Given the description of an element on the screen output the (x, y) to click on. 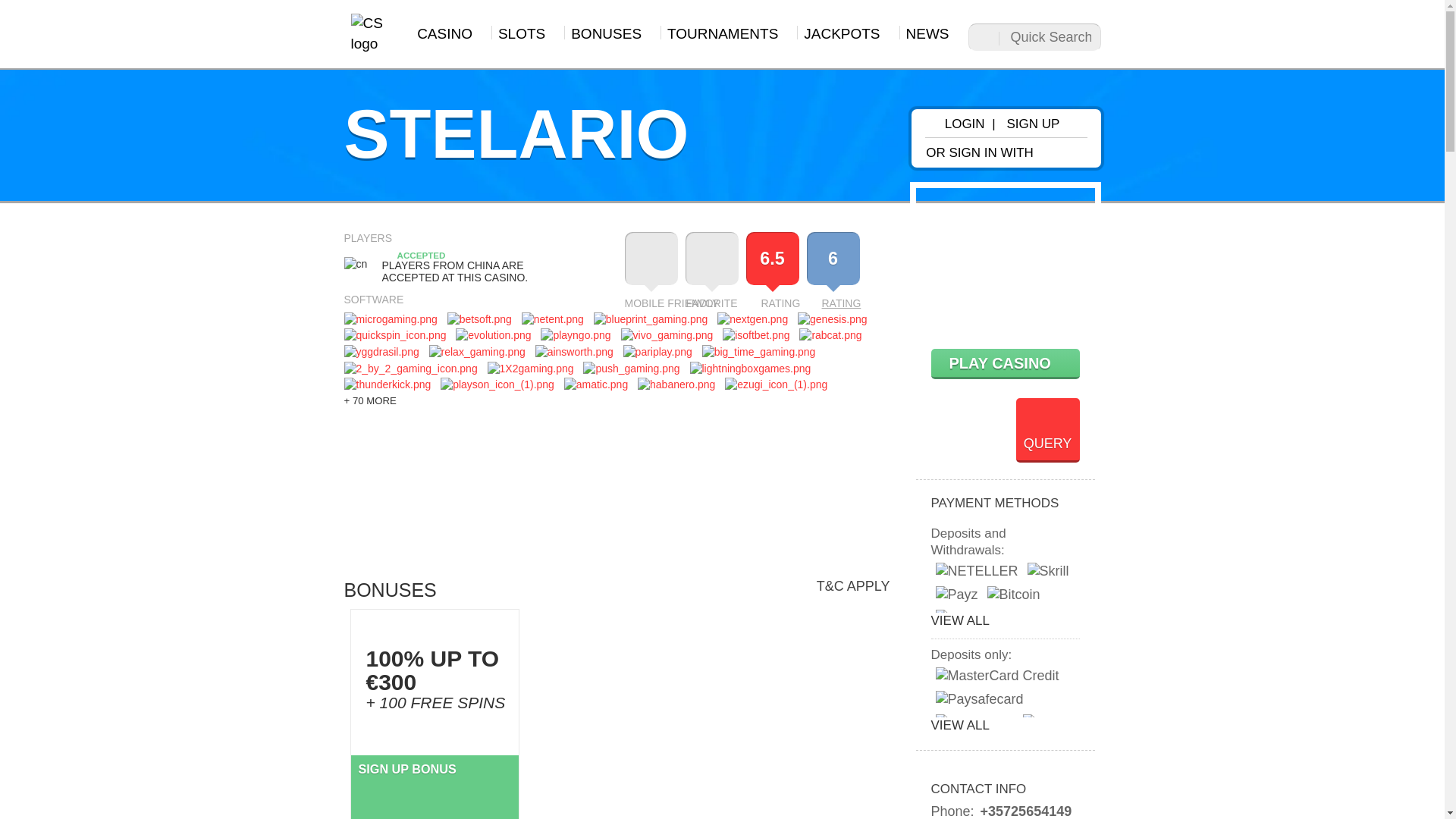
iSoftBet (755, 335)
China (356, 266)
Net Entertainment (833, 303)
Yggdrasil (552, 319)
Microgaming (381, 351)
Relax Gaming (390, 319)
Blueprint Gaming (477, 351)
Rabcat (650, 319)
Quickspin (830, 335)
